Given the description of an element on the screen output the (x, y) to click on. 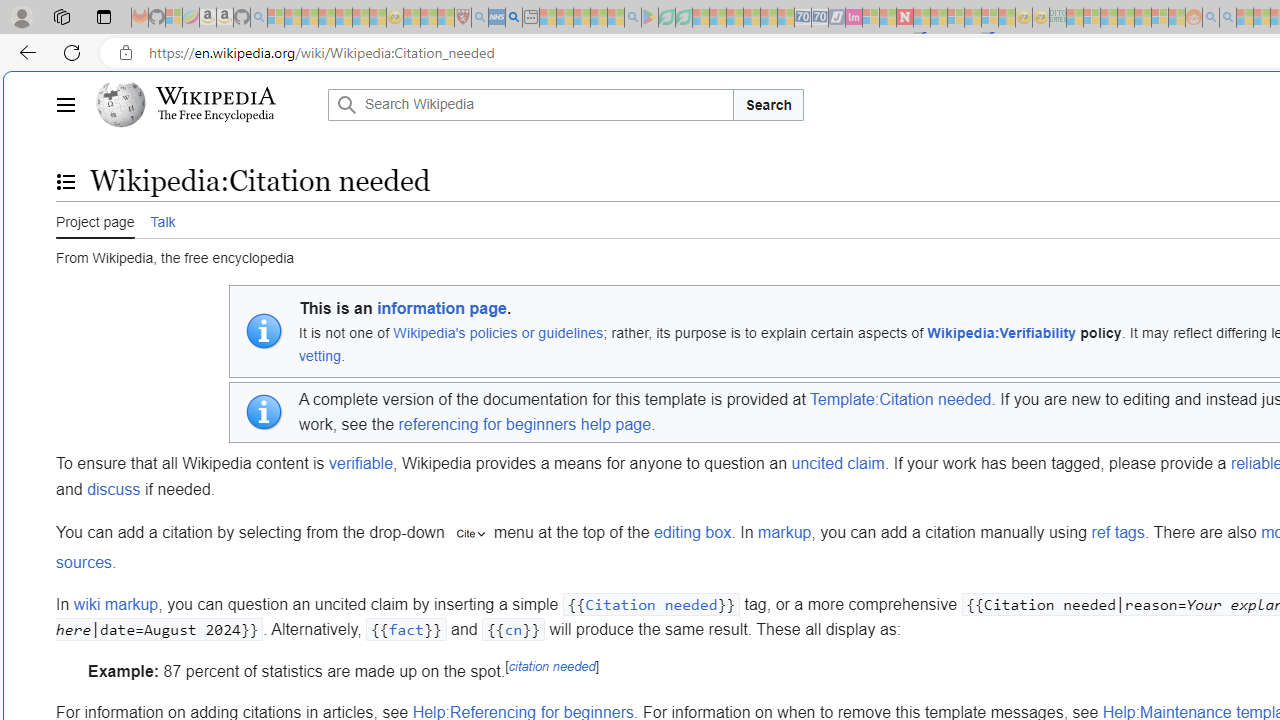
Main menu (65, 104)
cn (513, 629)
"cite" (469, 533)
information page (441, 309)
